Given the description of an element on the screen output the (x, y) to click on. 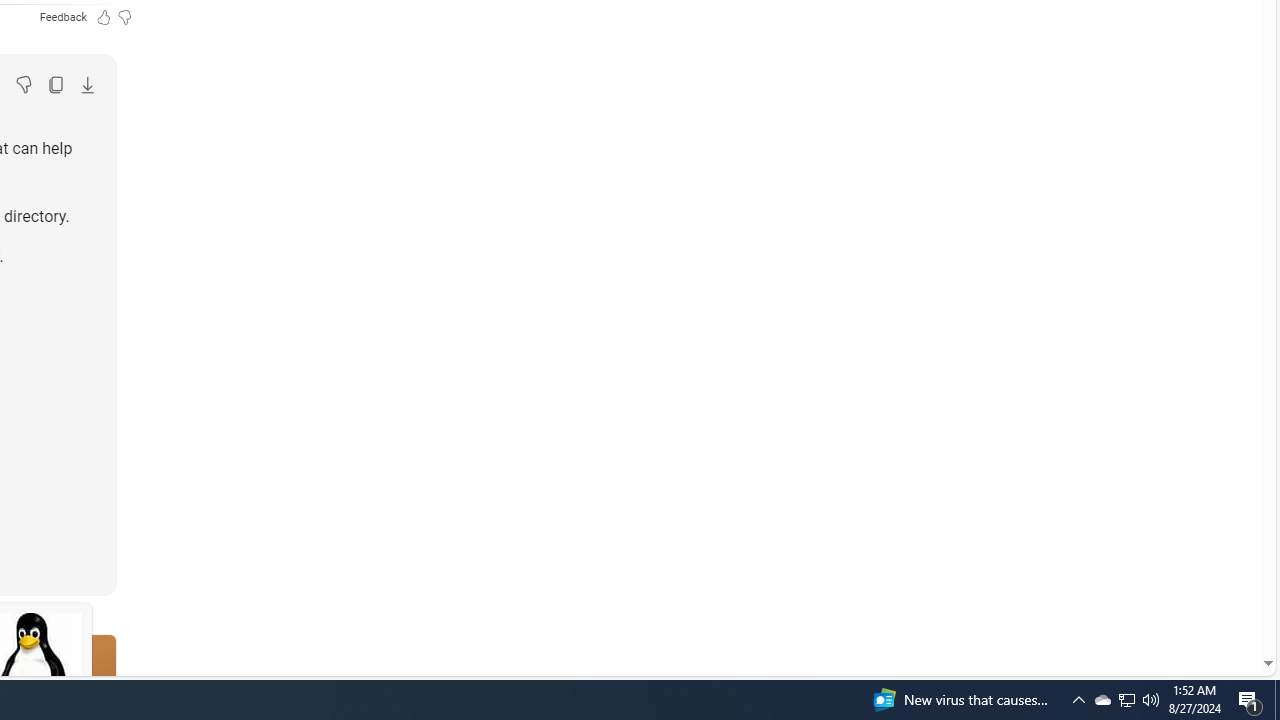
Export (87, 84)
Feedback Dislike (123, 16)
Search more (1222, 604)
AutomationID: mfa_root (1192, 603)
Feedback Like (103, 16)
Copy (55, 84)
